Given the description of an element on the screen output the (x, y) to click on. 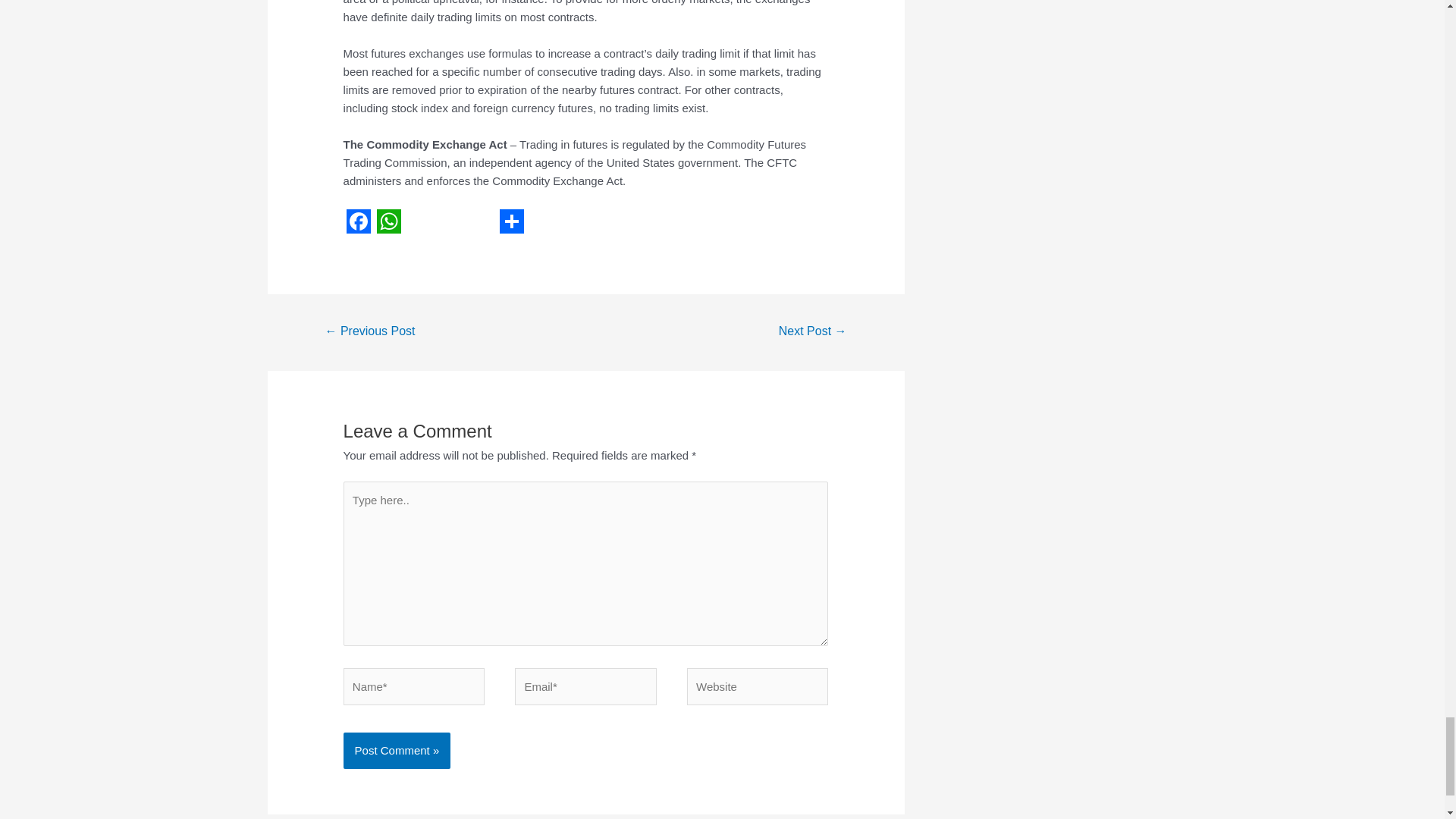
Facebook (358, 221)
WhatsApp (389, 221)
Facebook (358, 221)
Sink (812, 332)
Staying Up in a Long-Drawn-Out Job Search (368, 332)
WhatsApp (389, 221)
